Given the description of an element on the screen output the (x, y) to click on. 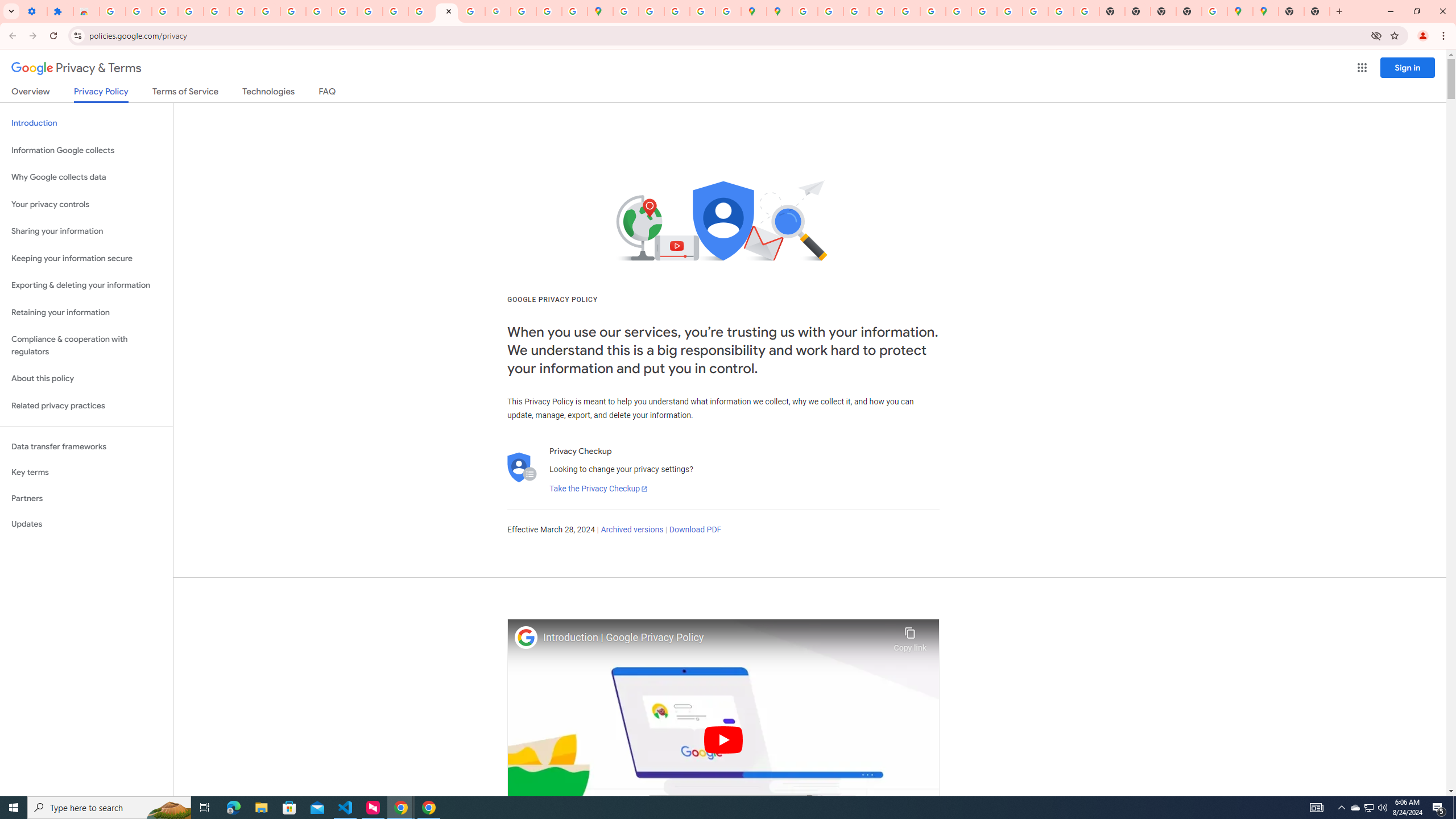
Sign in - Google Accounts (216, 11)
Related privacy practices (86, 405)
Take the Privacy Checkup (597, 488)
Privacy Help Center - Policies Help (881, 11)
Introduction | Google Privacy Policy (715, 637)
Reviews: Helix Fruit Jump Arcade Game (86, 11)
New Tab (1316, 11)
